Given the description of an element on the screen output the (x, y) to click on. 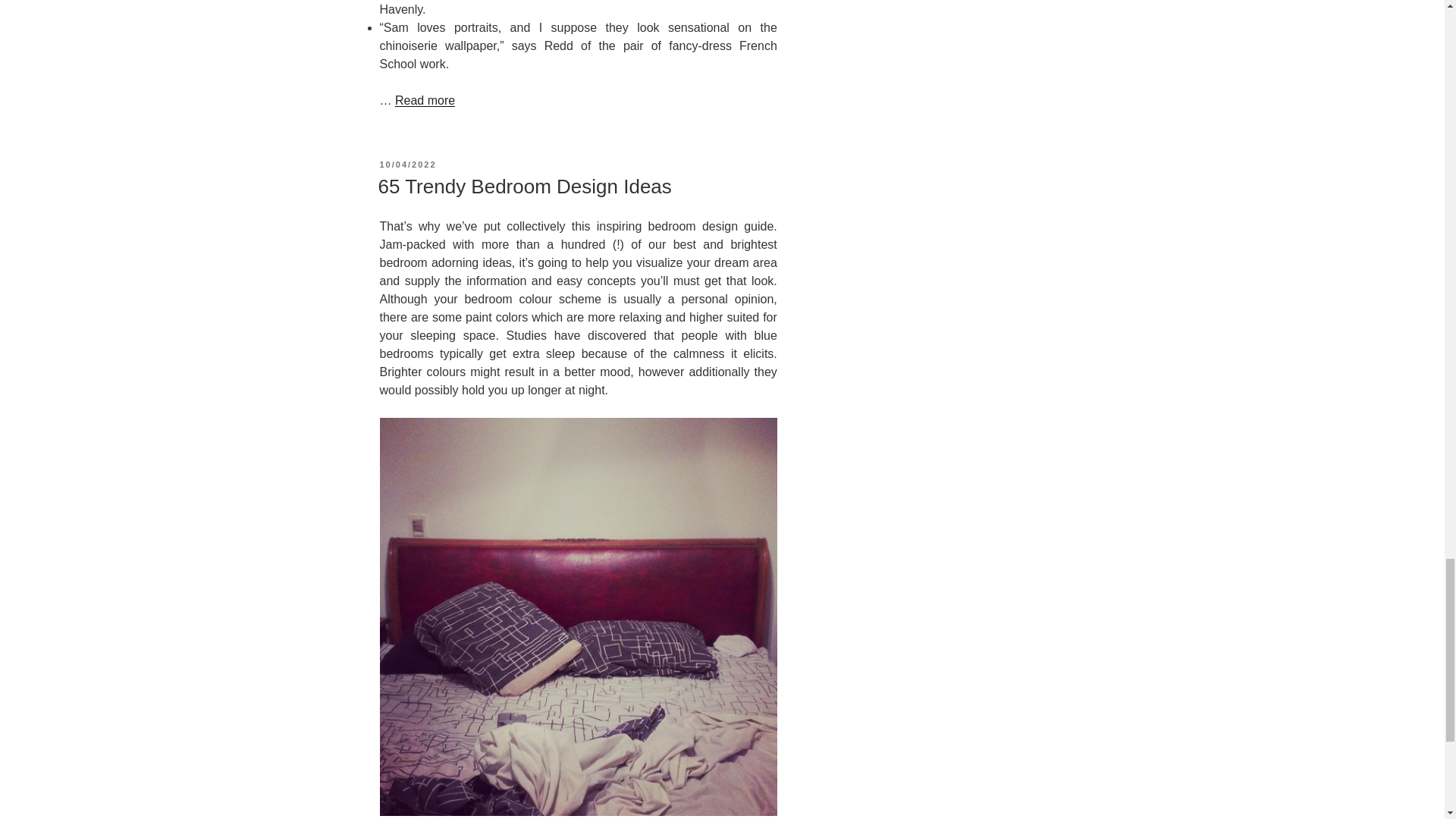
Read more (424, 818)
65 Trendy Bedroom Design Ideas (524, 186)
Read more (424, 100)
